Given the description of an element on the screen output the (x, y) to click on. 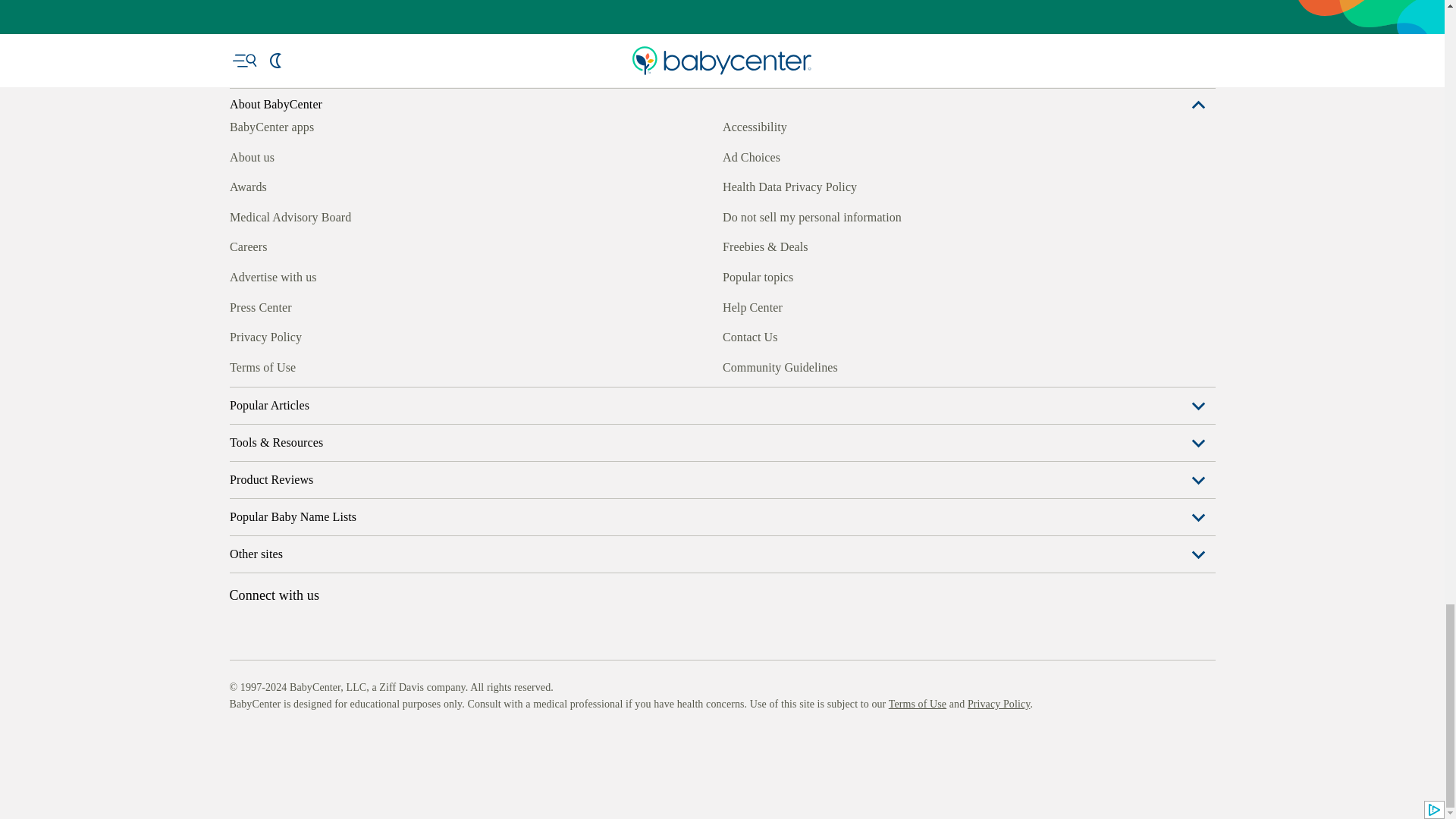
BabyCenter YouTube channel (344, 364)
BabyCenter Facebook page (239, 364)
BabyCenter Pinterest board (309, 364)
BabyCenter Twitter feed (379, 364)
BabyCenter Instagram feed (274, 364)
